Given the description of an element on the screen output the (x, y) to click on. 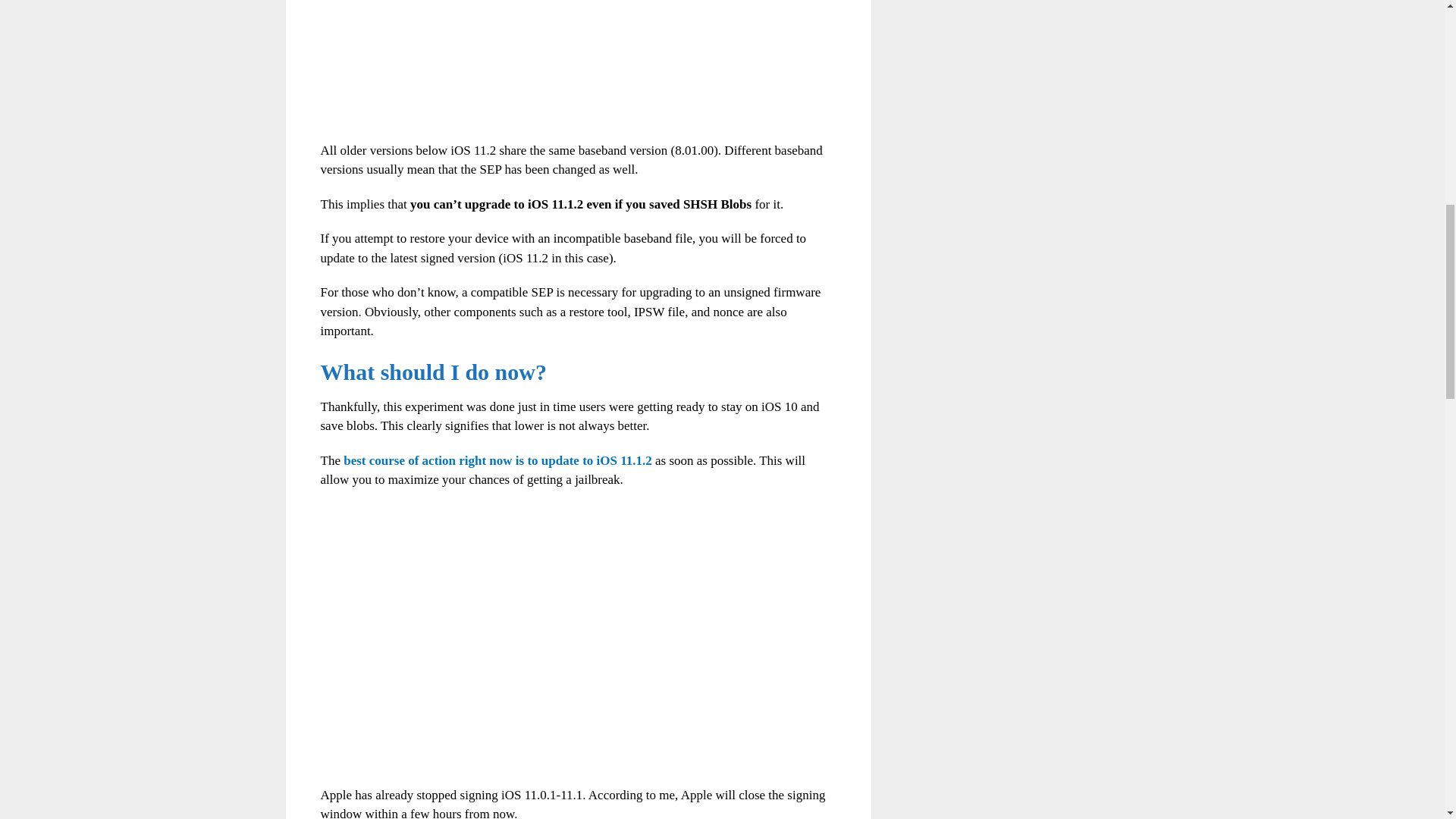
best course of action right now is to update to iOS 11.1.2 (497, 460)
